Given the description of an element on the screen output the (x, y) to click on. 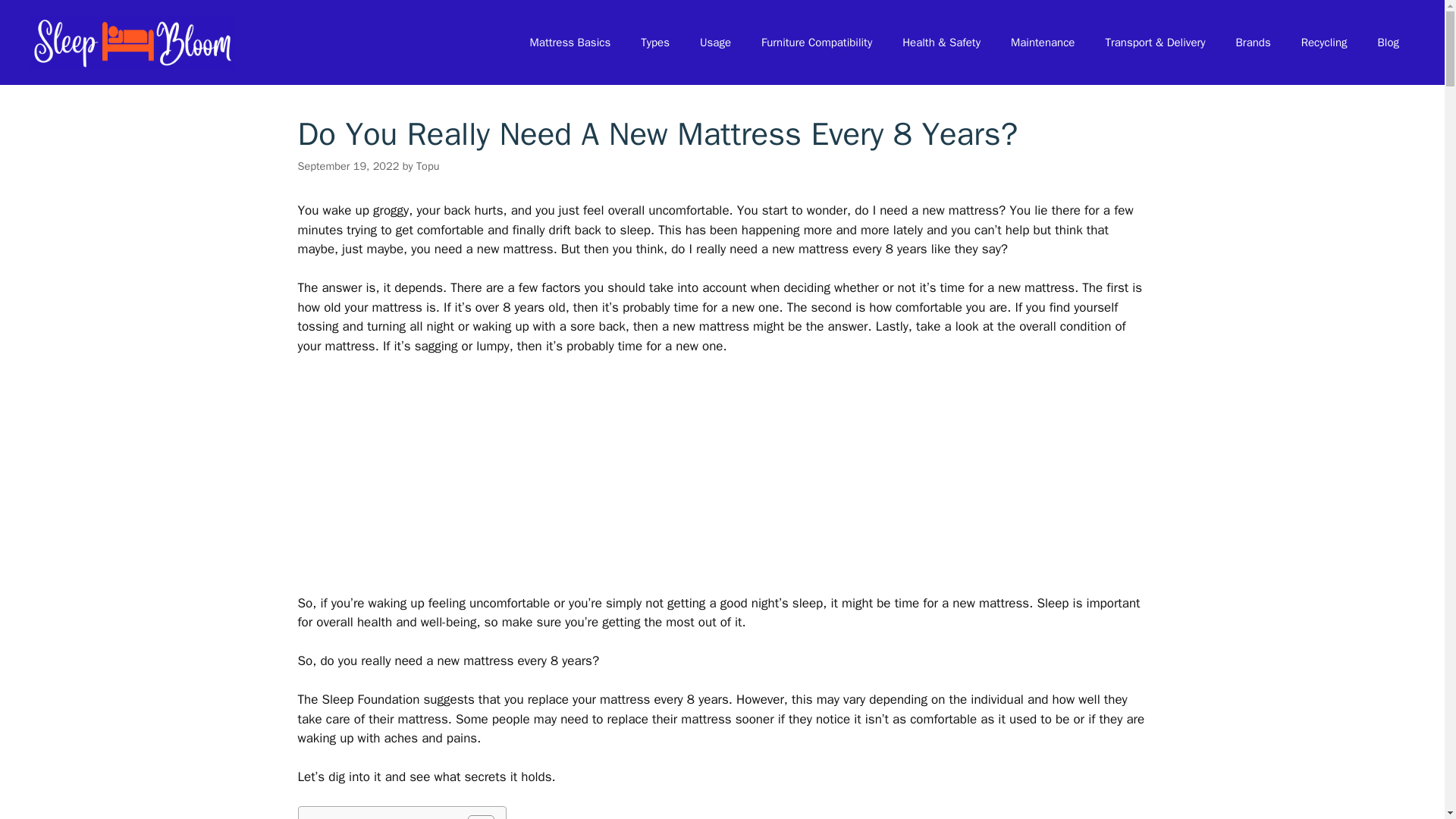
Types (655, 42)
Furniture Compatibility (815, 42)
Recycling (1323, 42)
View all posts by Topu (427, 165)
Usage (714, 42)
Blog (1387, 42)
Brands (1253, 42)
Maintenance (1042, 42)
Mattress Basics (570, 42)
Topu (427, 165)
